Given the description of an element on the screen output the (x, y) to click on. 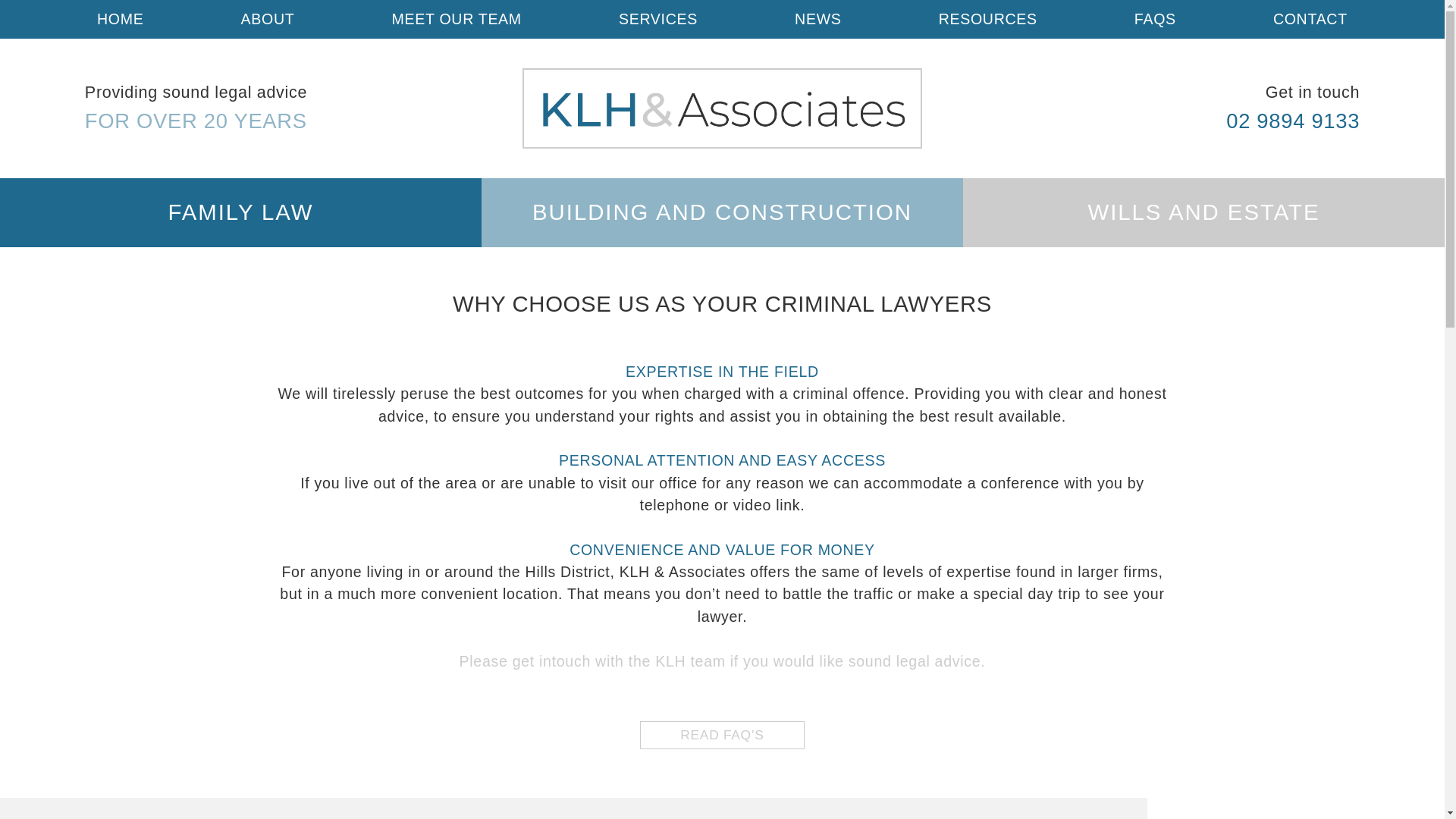
WILLS AND ESTATE (1203, 211)
HOME (119, 19)
BUILDING AND CONSTRUCTION (722, 211)
SERVICES (657, 19)
FAQS (1155, 19)
NEWS (817, 19)
ABOUT (268, 19)
MEET OUR TEAM (456, 19)
FAMILY LAW (241, 211)
02 9894 9133 (1292, 120)
